Given the description of an element on the screen output the (x, y) to click on. 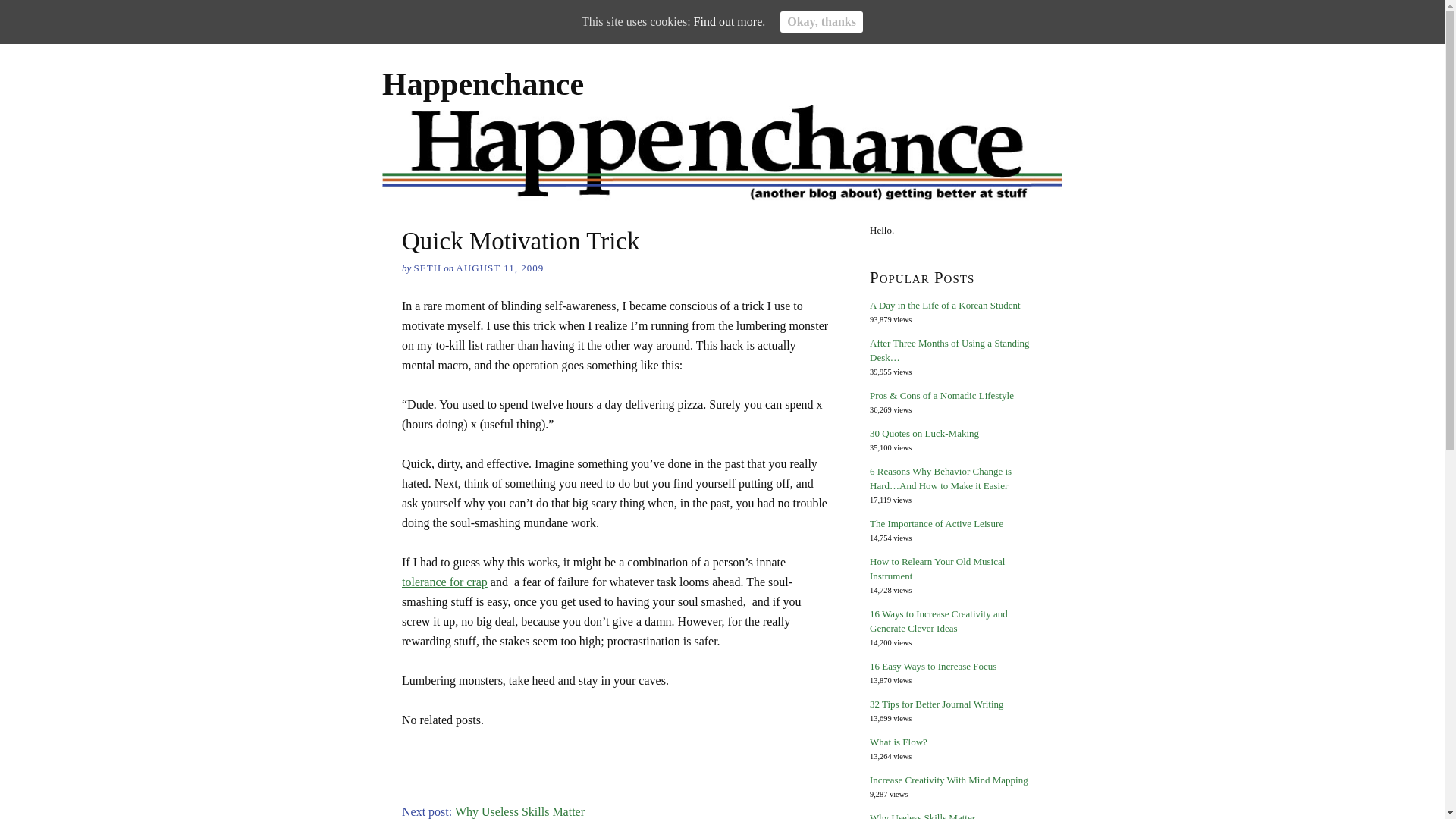
30 Quotes on Luck-Making (923, 432)
16 Easy Ways to Increase Focus (932, 665)
32 Tips for Better Journal Writing (936, 704)
Why Useless Skills Matter (519, 811)
How to Relearn Your Old Musical Instrument (936, 568)
A Day in the Life of a Korean Student (944, 305)
Okay, thanks (821, 21)
Increase Creativity With Mind Mapping (948, 779)
Find out more. (729, 21)
The Importance of Active Leisure (936, 523)
Why Useless Skills Matter (922, 815)
16 Ways to Increase Creativity and Generate Clever Ideas (938, 620)
tolerance for crap (444, 581)
2009-08-11 (500, 267)
What is Flow? (898, 741)
